Given the description of an element on the screen output the (x, y) to click on. 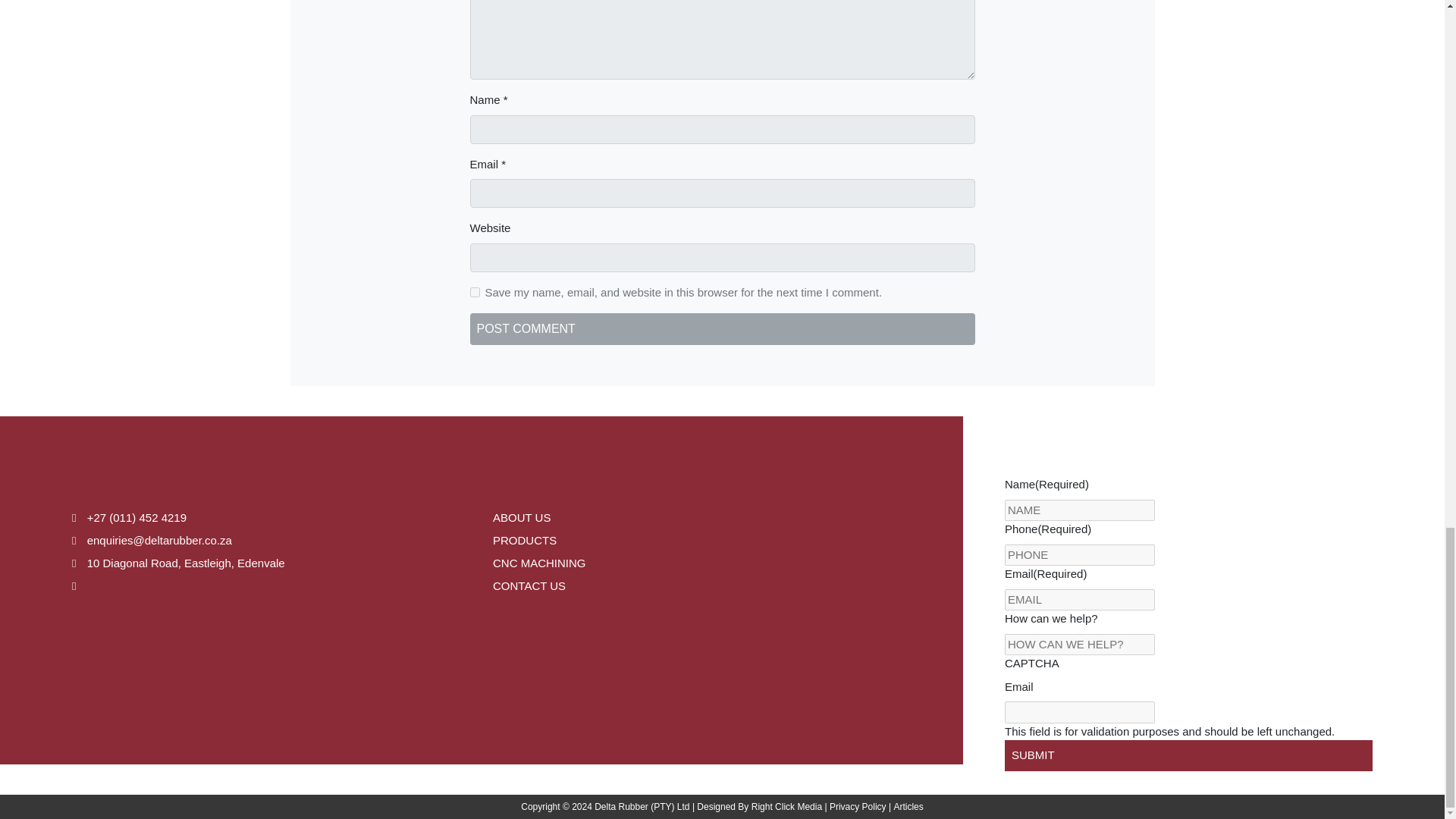
yes (475, 292)
Post Comment (722, 328)
PRODUCTS (524, 540)
10 Diagonal Road, Eastleigh, Edenvale (178, 562)
Post Comment (722, 328)
ABOUT US (521, 517)
Submit (1188, 755)
